Given the description of an element on the screen output the (x, y) to click on. 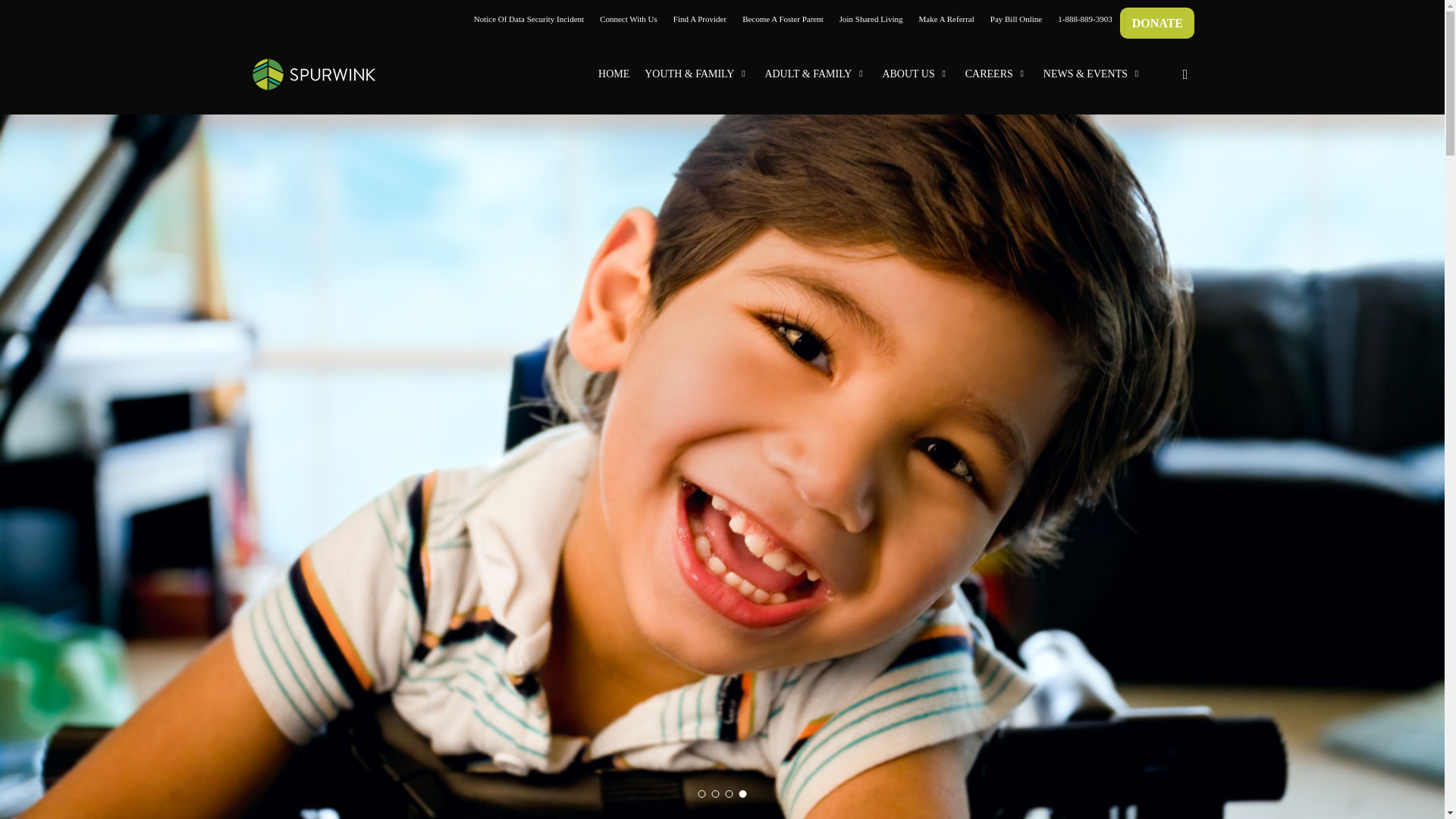
Join Shared Living (871, 19)
Make A Referral (945, 19)
Pay Bill Online (1015, 19)
ABOUT US (915, 73)
Notice Of Data Security Incident (528, 19)
HOME (614, 73)
Become A Foster Parent (782, 19)
Connect With Us (628, 19)
Find A Provider (699, 19)
1-888-889-3903 (1084, 19)
mobiletel (1084, 19)
DONATE (1157, 23)
